Given the description of an element on the screen output the (x, y) to click on. 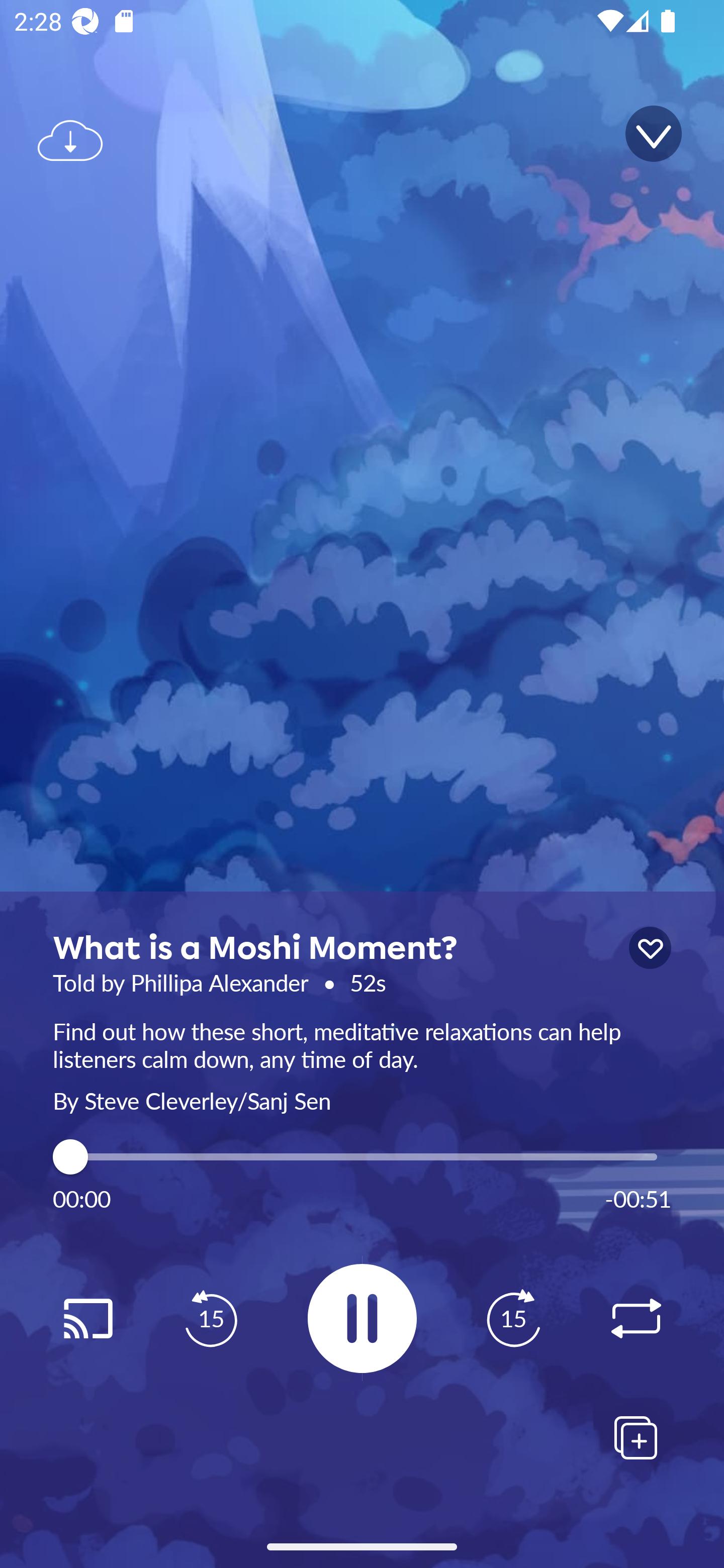
lock icon (650, 947)
1.9230769E-5 Pause (361, 1317)
Replay (87, 1318)
Replay 15 (210, 1318)
Replay 15 (513, 1318)
Replay (635, 1318)
Add To Playlists (635, 1437)
